Given the description of an element on the screen output the (x, y) to click on. 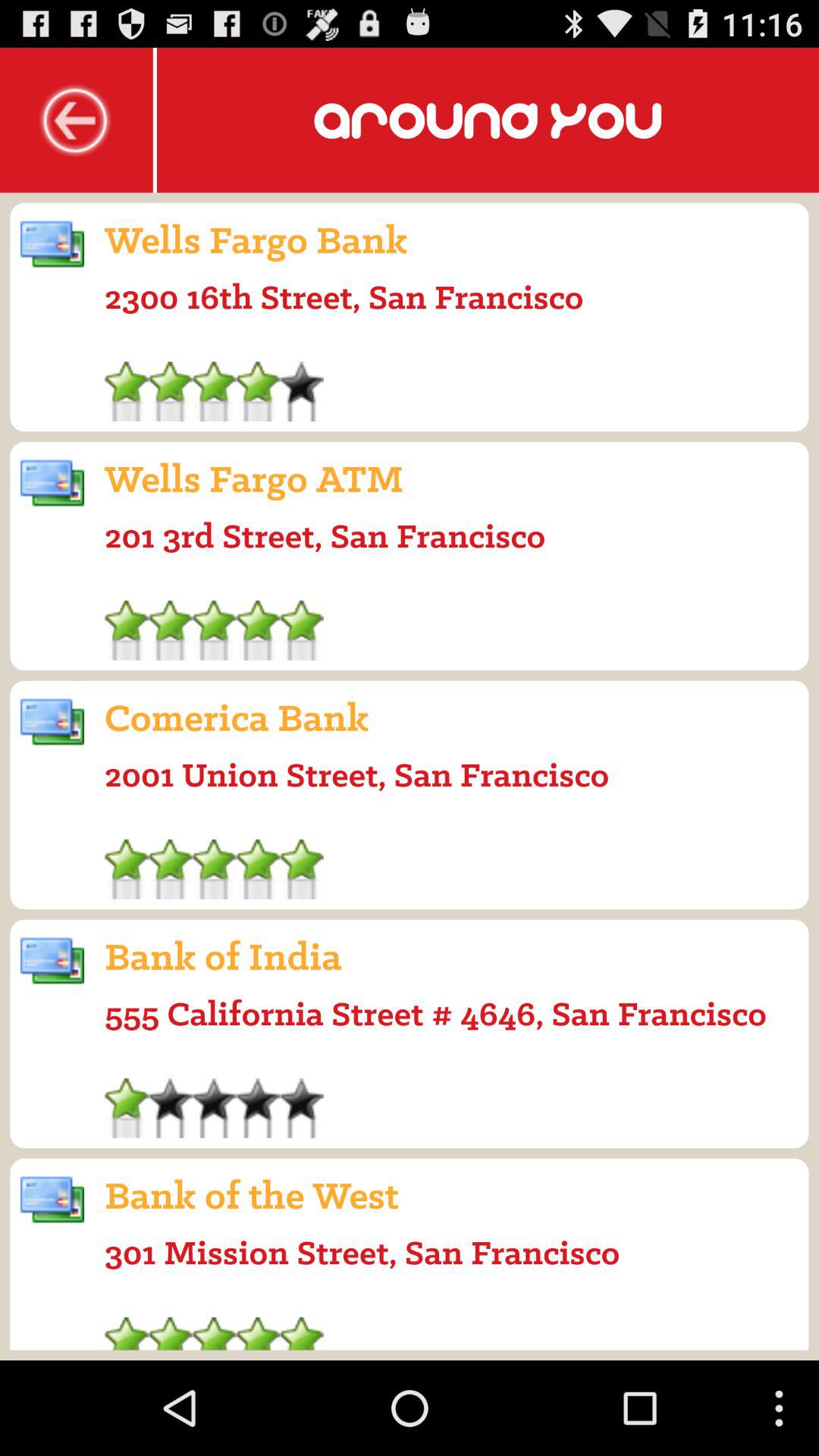
press item below bank of india icon (435, 1013)
